Given the description of an element on the screen output the (x, y) to click on. 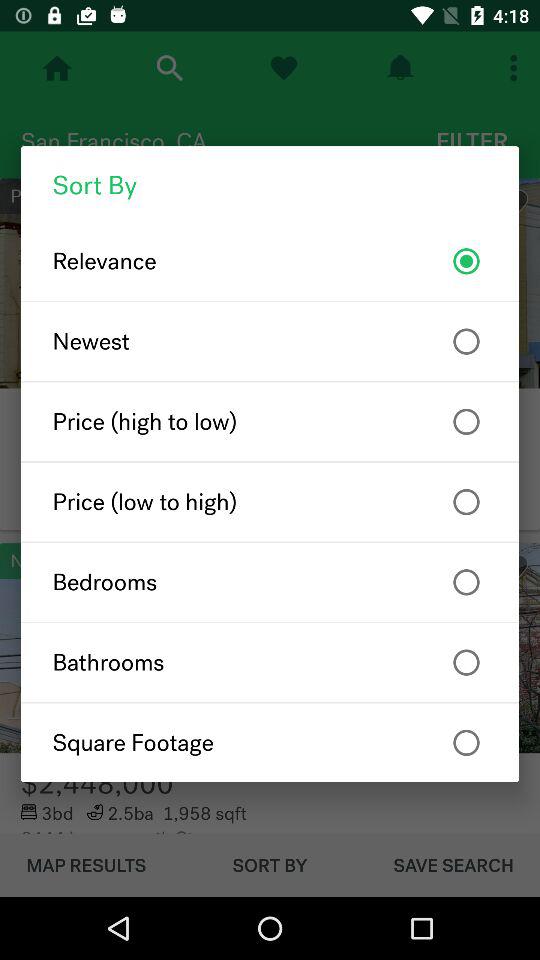
swipe until relevance icon (270, 261)
